Given the description of an element on the screen output the (x, y) to click on. 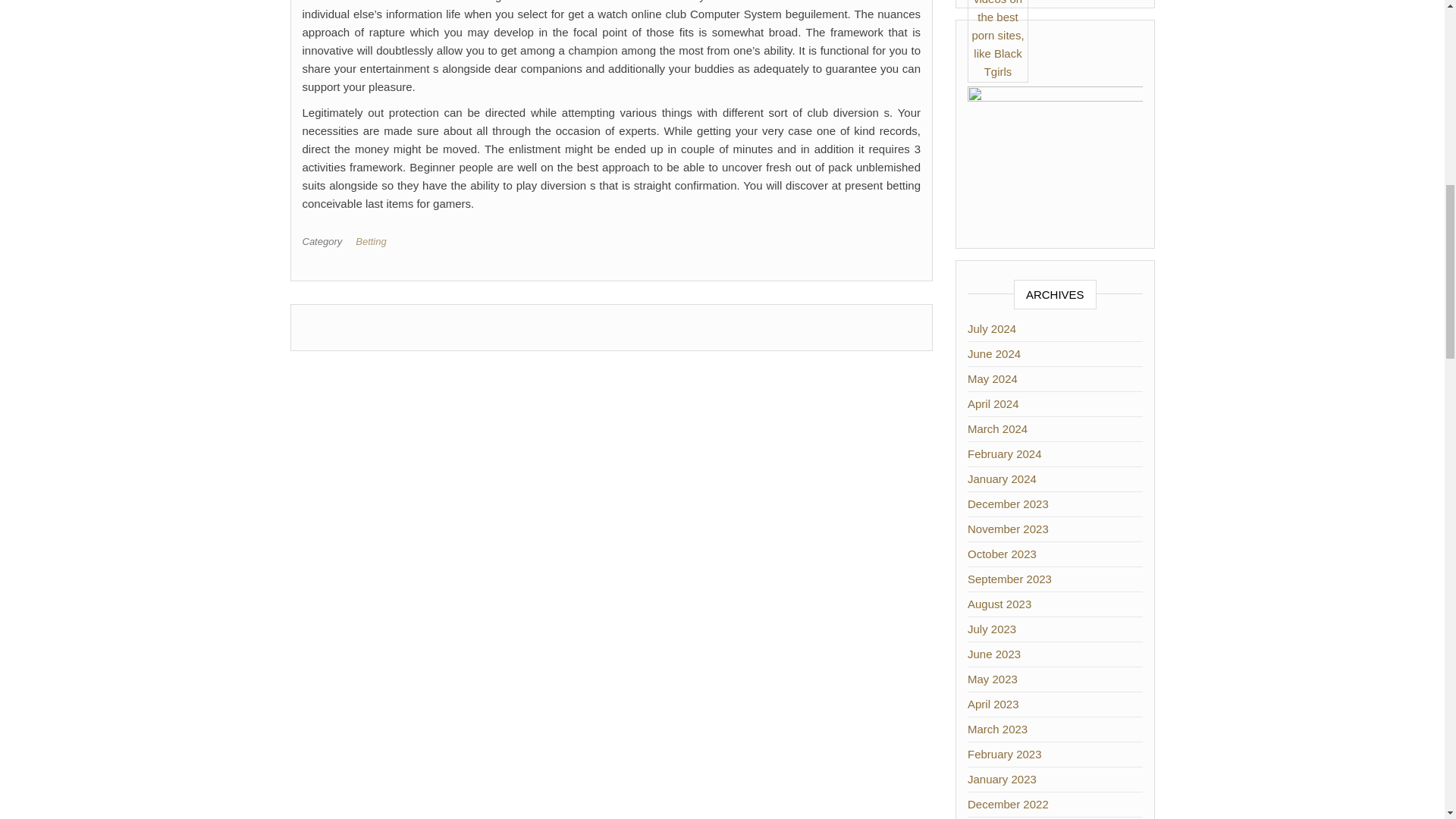
July 2024 (992, 328)
February 2023 (1005, 753)
March 2023 (997, 728)
January 2024 (1002, 478)
April 2024 (993, 403)
May 2024 (992, 378)
January 2023 (1002, 779)
August 2023 (999, 603)
Betting (373, 241)
June 2023 (994, 653)
December 2022 (1008, 803)
October 2023 (1002, 553)
February 2024 (1005, 453)
March 2024 (997, 428)
